Given the description of an element on the screen output the (x, y) to click on. 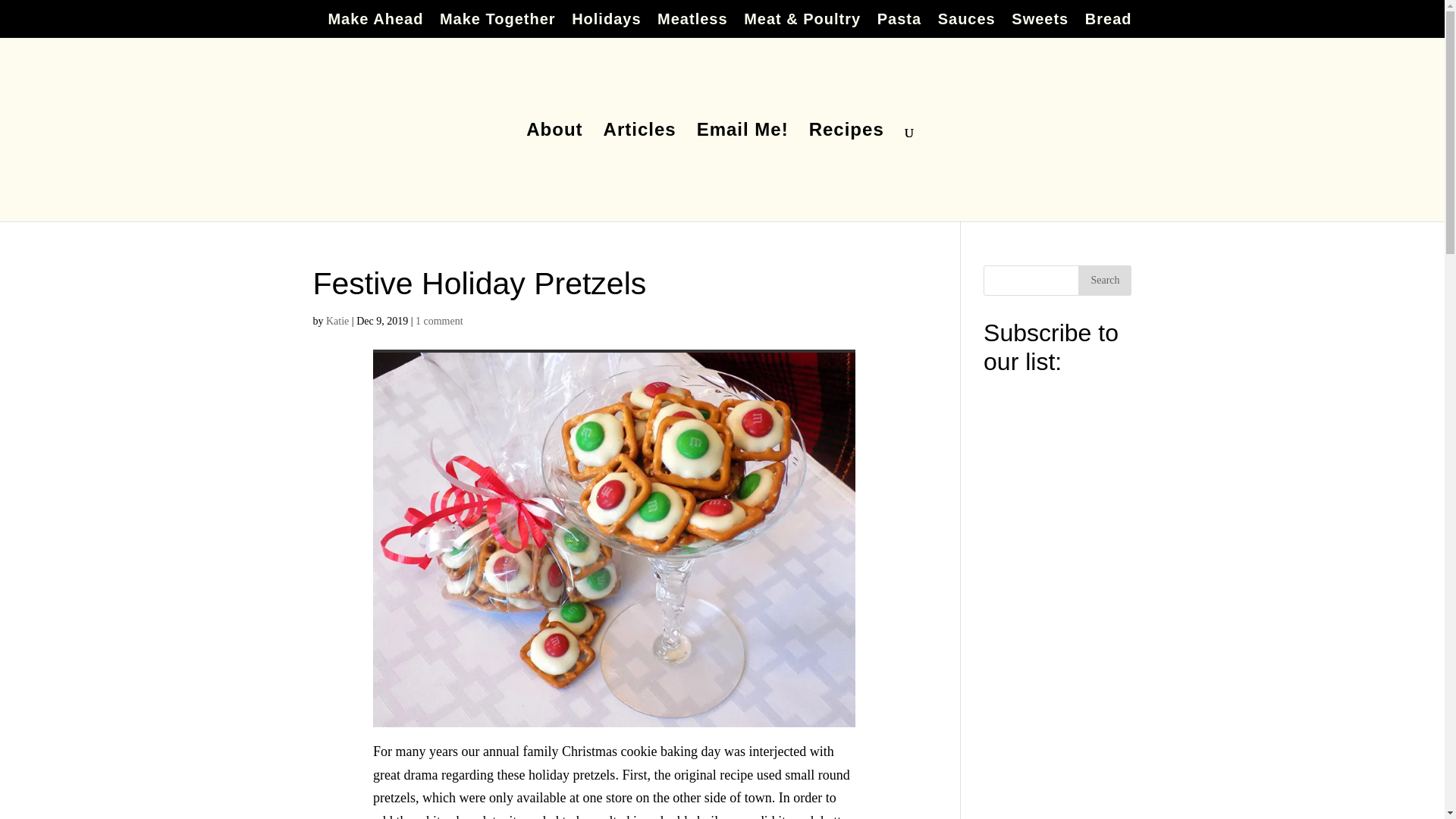
Pasta (899, 24)
Meatless (693, 24)
Search (1104, 280)
Posts by Katie (337, 320)
Search (1104, 280)
Sauces (966, 24)
Bread (1108, 24)
Holidays (606, 24)
Make Together (497, 24)
Make Ahead (375, 24)
Katie (337, 320)
Sweets (1039, 24)
1 comment (438, 320)
Email Me! (743, 172)
